Given the description of an element on the screen output the (x, y) to click on. 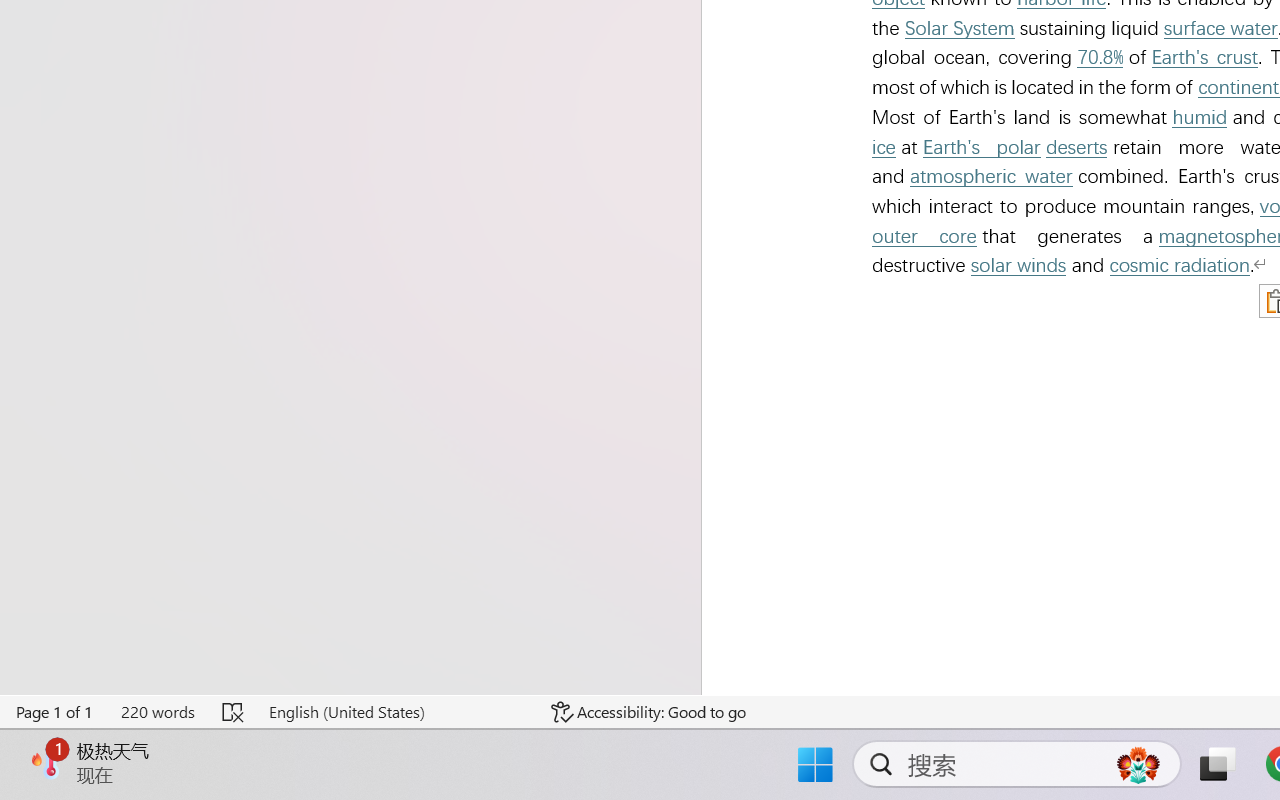
Spelling and Grammar Check Errors (234, 712)
solar winds (1018, 265)
